Given the description of an element on the screen output the (x, y) to click on. 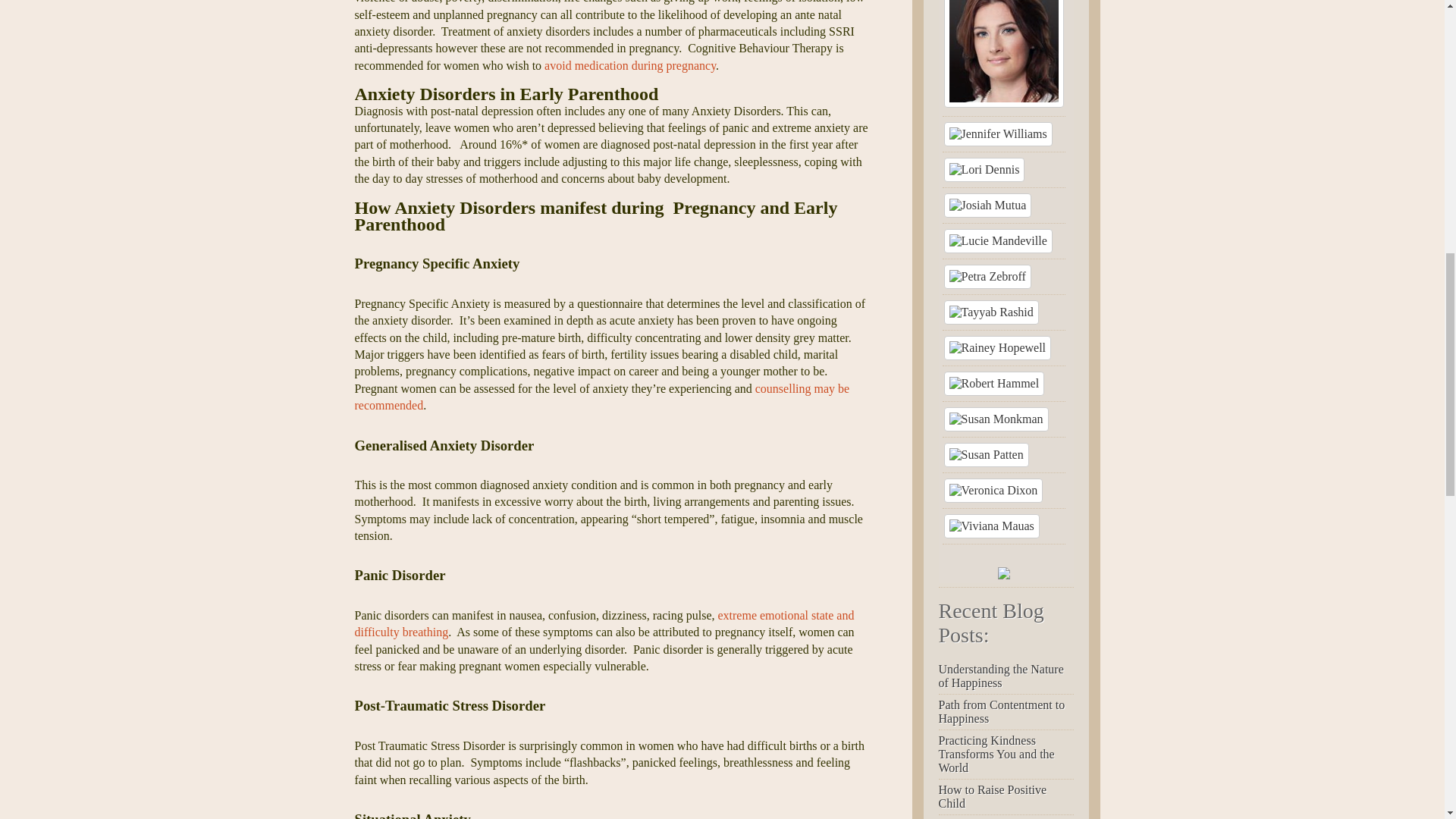
Should You Take Medication for Anxiety? (630, 65)
Petra Zebroff (986, 276)
Ashley Kreze (1002, 53)
avoid medication during pregnancy (630, 65)
extreme emotional state and difficulty breathing (604, 623)
Jennifer Williams (997, 134)
Josiah Mutua (986, 205)
counselling may be recommended (602, 396)
Counselling in Mental Health (602, 396)
Lucie Mandeville (997, 241)
Lori Dennis (984, 169)
